Given the description of an element on the screen output the (x, y) to click on. 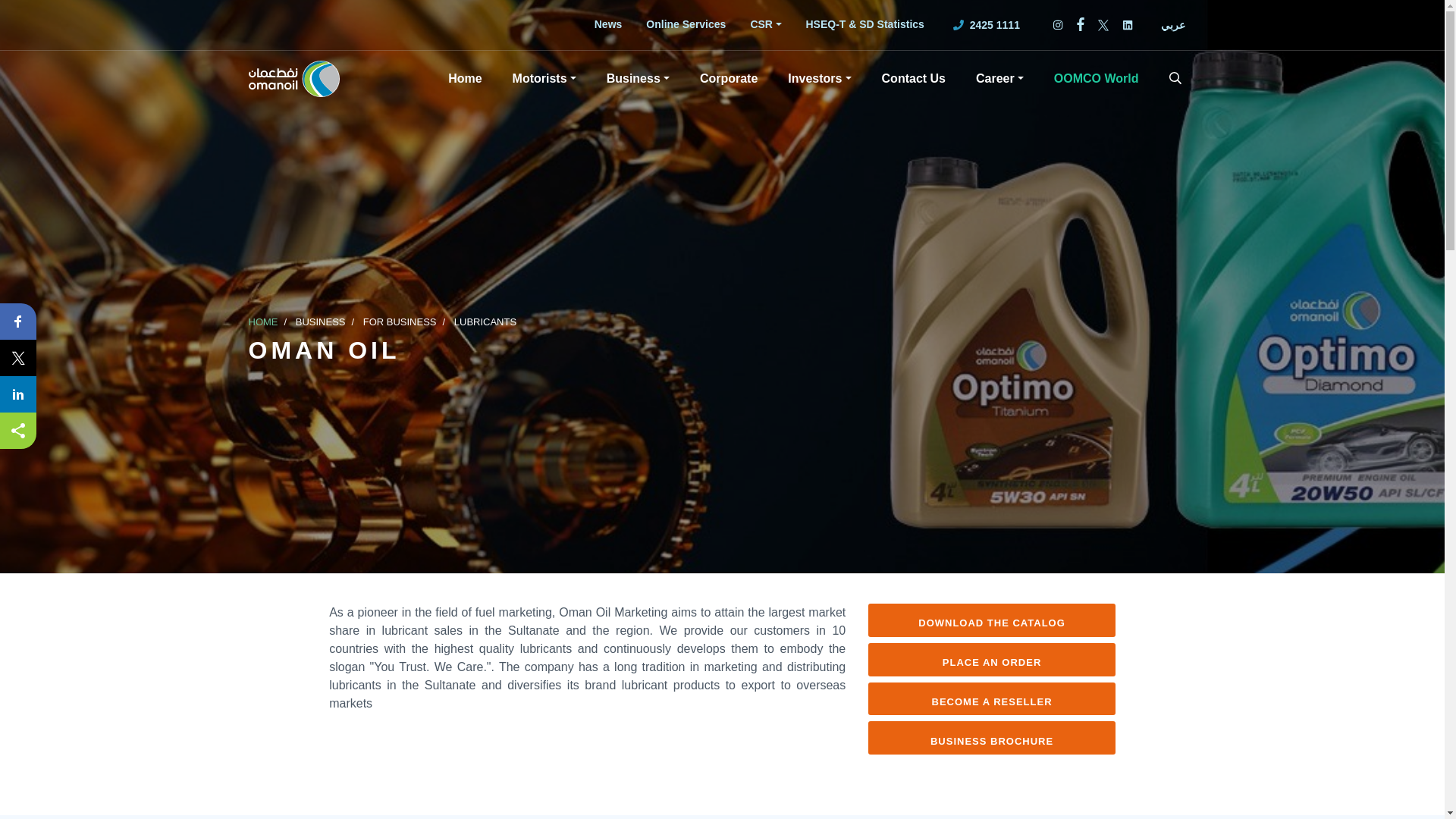
Search (1175, 78)
CSR (765, 24)
2425 1111 (986, 24)
Investors (819, 78)
Career (999, 78)
Home (464, 78)
Contact Us (913, 78)
oomco (293, 78)
Motorists (544, 78)
Corporate (728, 78)
Online Services (685, 24)
News (608, 24)
Business (637, 78)
